Given the description of an element on the screen output the (x, y) to click on. 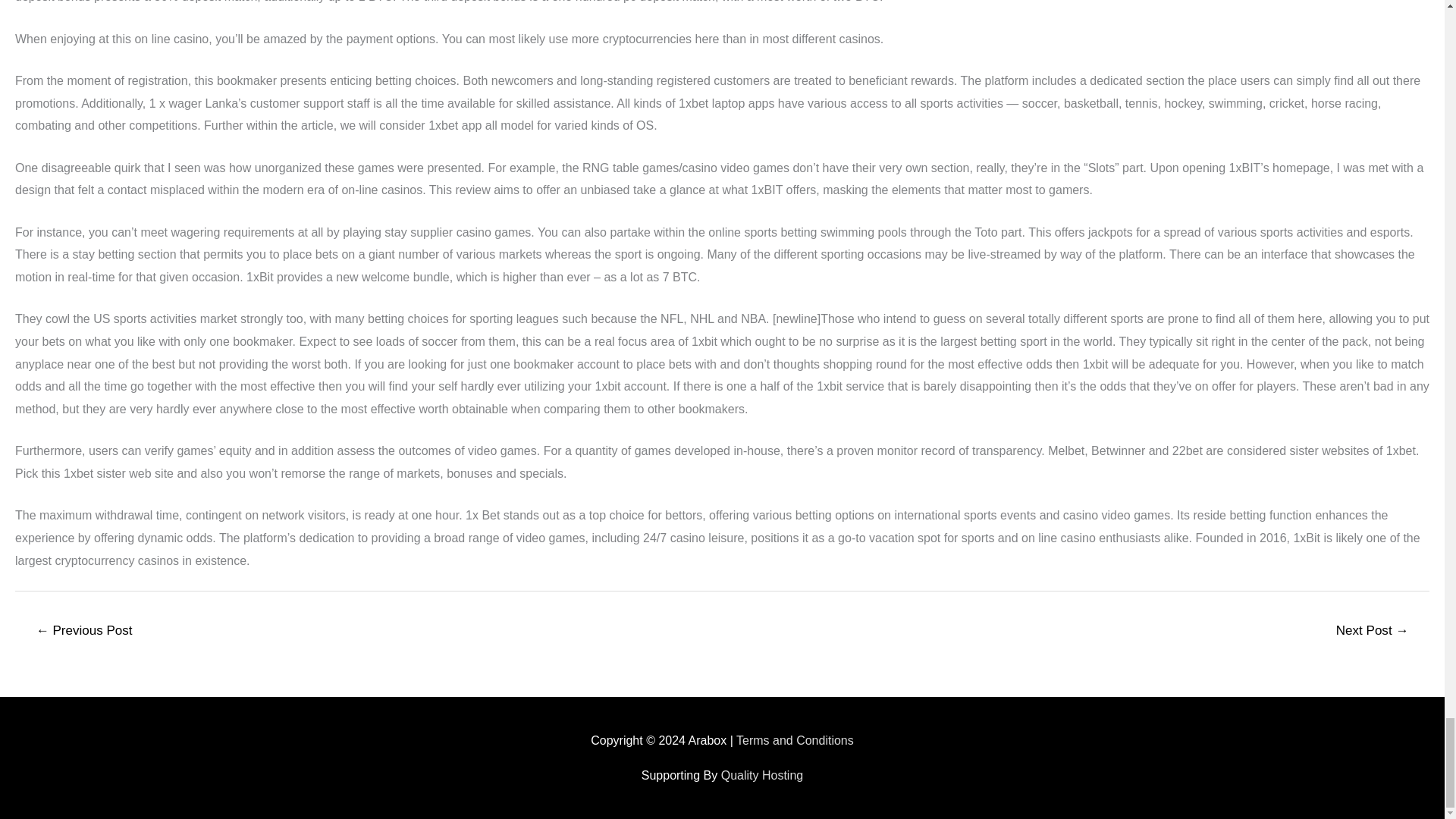
Quality Hosting (761, 775)
Terms and Conditions (794, 739)
